Given the description of an element on the screen output the (x, y) to click on. 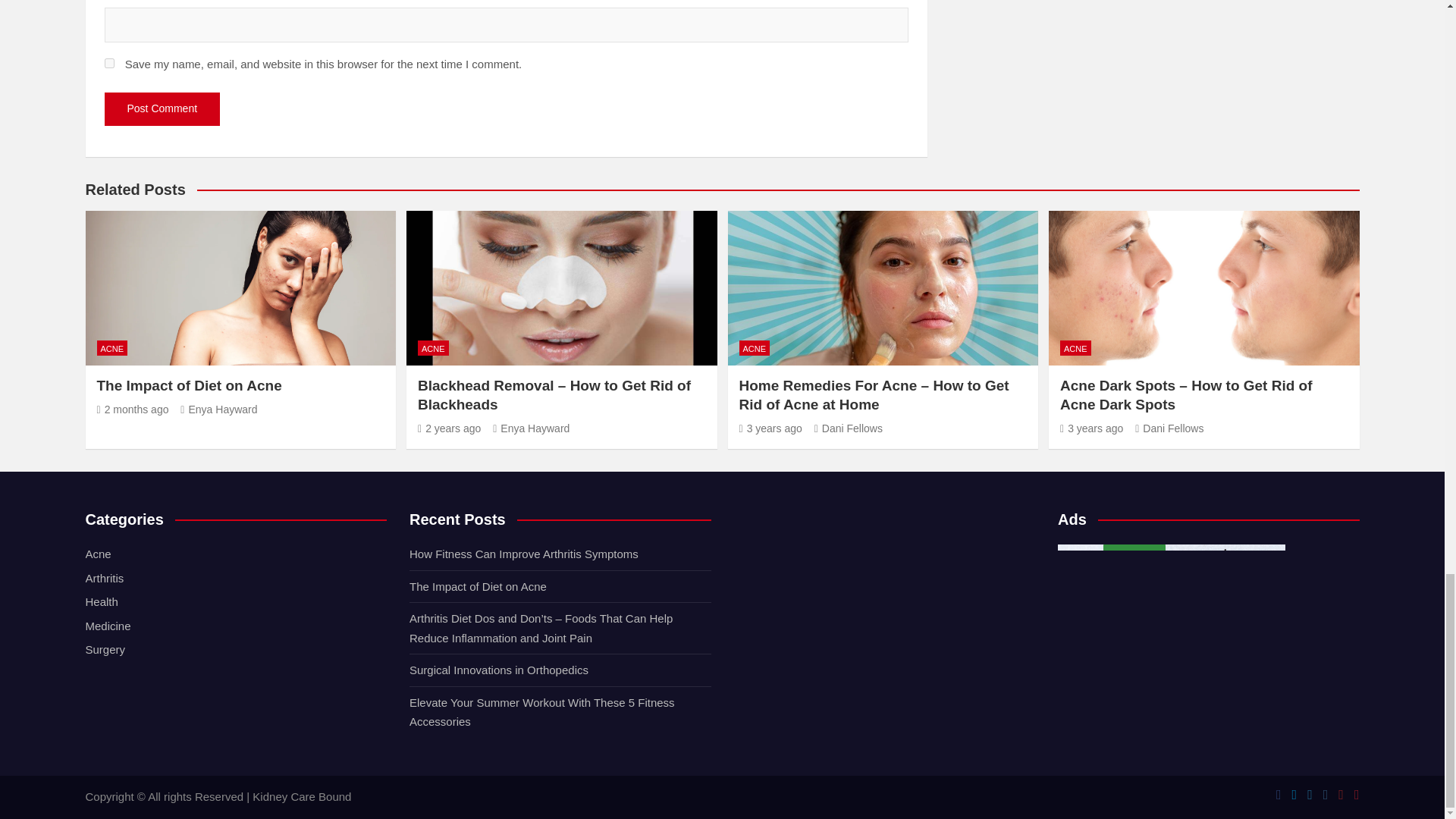
yes (109, 62)
The Impact of Diet on Acne (132, 409)
Post Comment (162, 109)
Post Comment (162, 109)
